Given the description of an element on the screen output the (x, y) to click on. 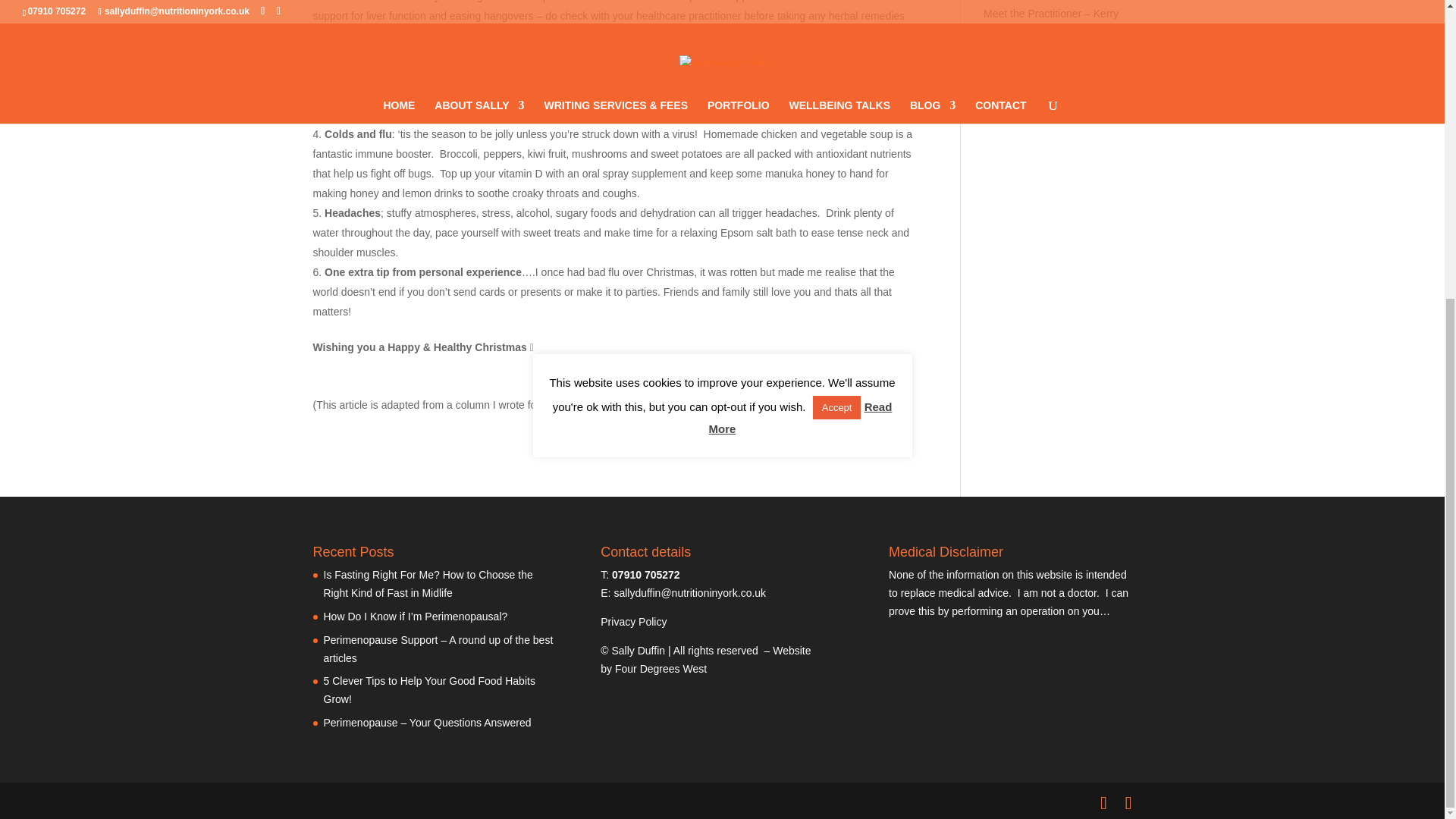
website design North Yorkshire (660, 668)
The Press (593, 404)
